Given the description of an element on the screen output the (x, y) to click on. 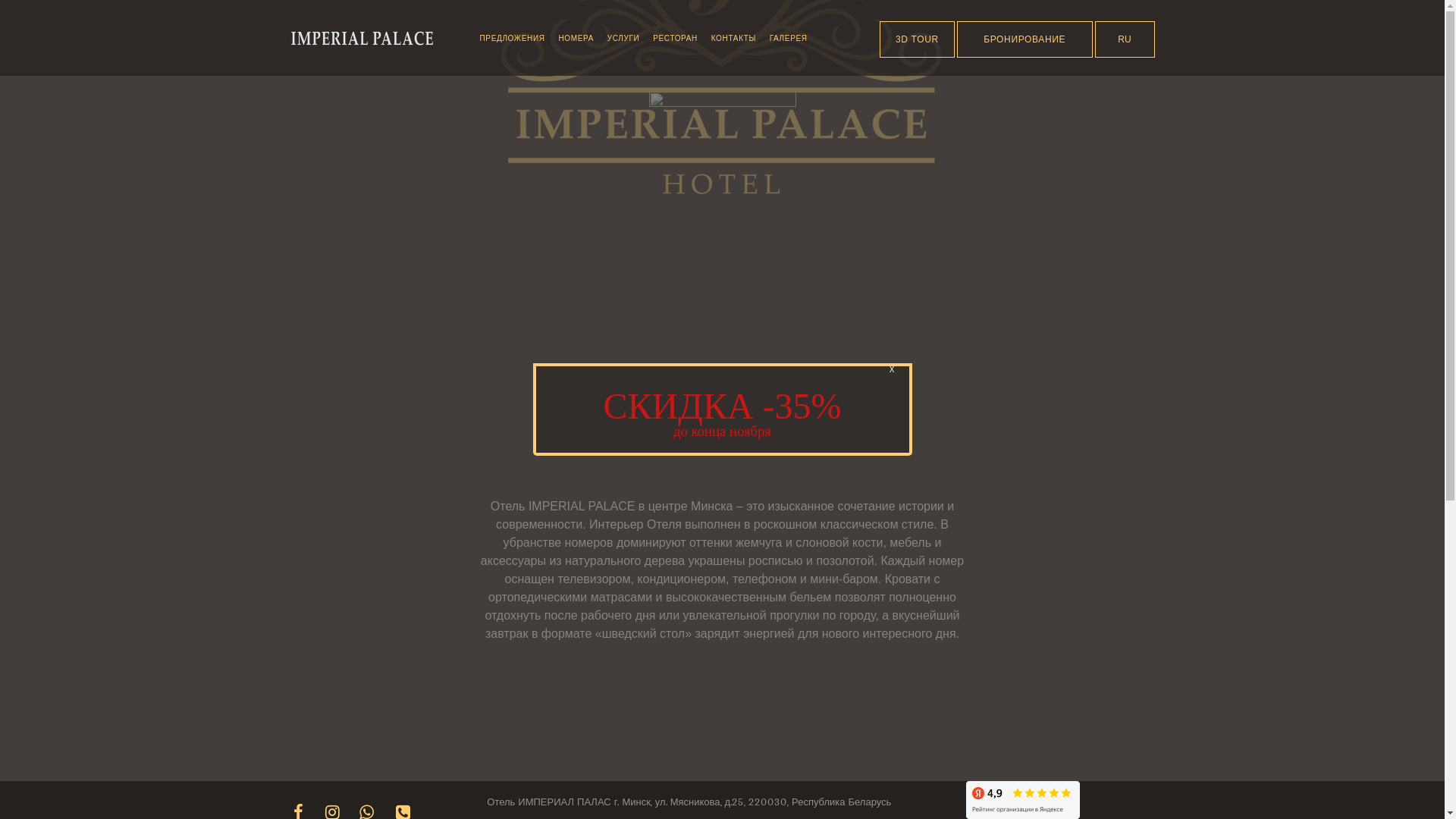
Viber Element type: hover (402, 800)
EN Element type: text (1124, 75)
3D TOUR Element type: text (916, 39)
WhatsApp Element type: hover (365, 800)
RU Element type: text (1124, 39)
